Given the description of an element on the screen output the (x, y) to click on. 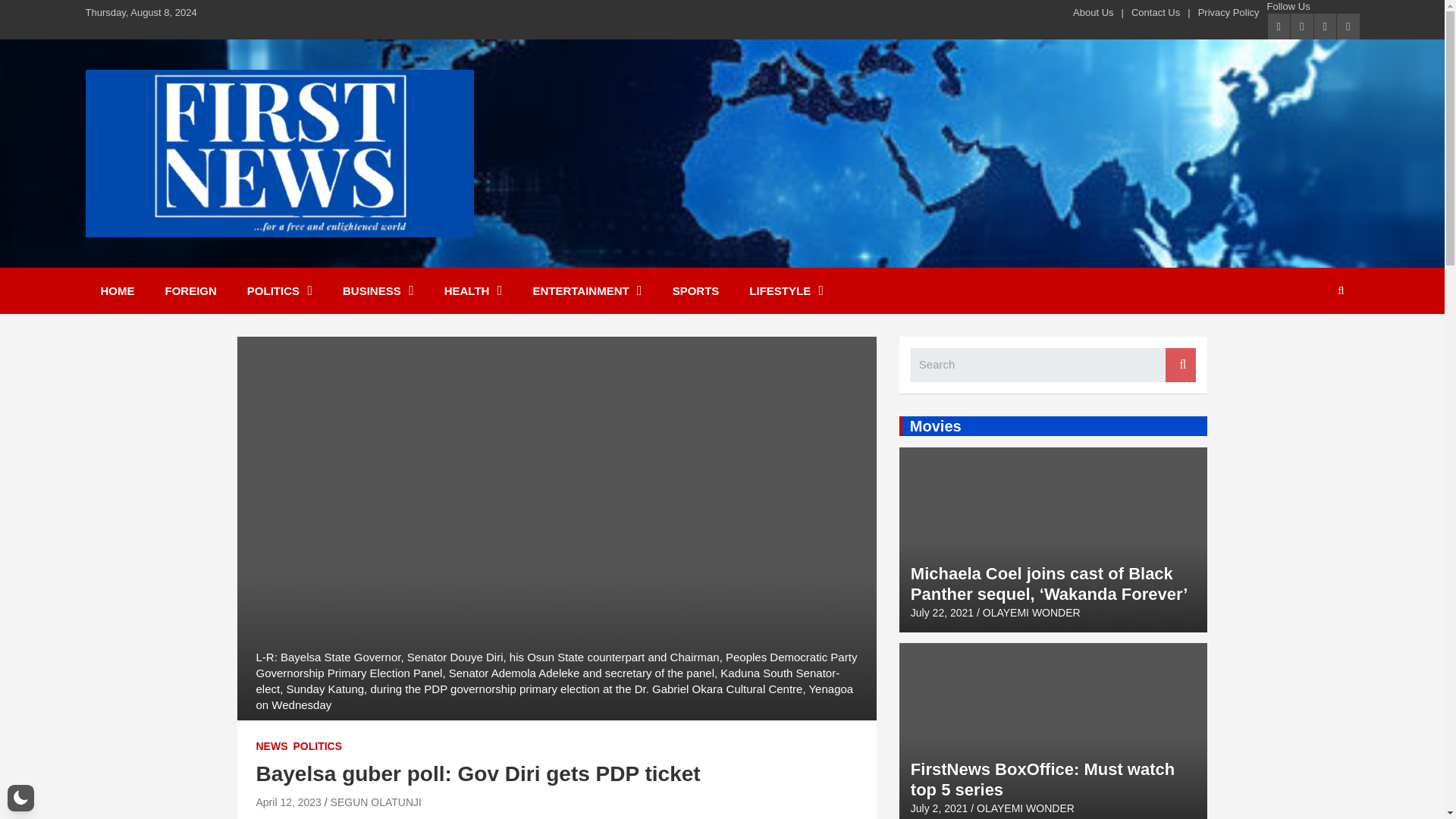
First News NG (188, 256)
POLITICS (279, 290)
Privacy Policy (1228, 12)
HEALTH (473, 290)
HOME (116, 290)
Contact Us (1155, 12)
ENTERTAINMENT (586, 290)
April 12, 2023 (288, 802)
NEWS (272, 746)
FirstNews BoxOffice: Must watch top 5 series (939, 808)
About Us (1093, 12)
POLITICS (317, 746)
BUSINESS (378, 290)
FOREIGN (190, 290)
Bayelsa guber poll: Gov Diri gets PDP ticket (288, 802)
